Given the description of an element on the screen output the (x, y) to click on. 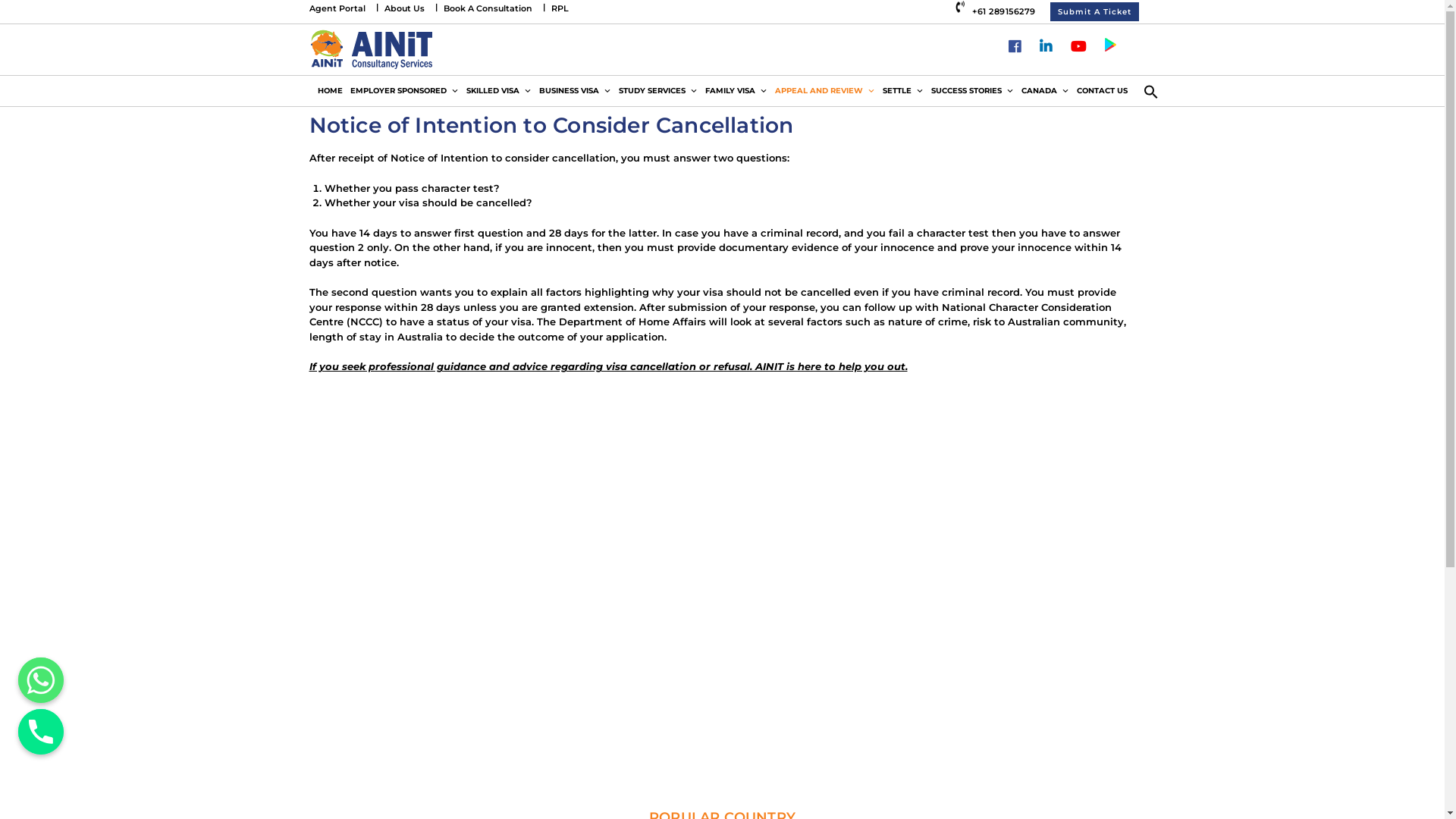
Book A Consultation Element type: text (486, 8)
BUSINESS VISA Element type: text (575, 90)
APPEAL AND REVIEW Element type: text (824, 90)
+61 289156279 Element type: text (996, 10)
STUDY SERVICES Element type: text (657, 90)
Agent Portal Element type: text (337, 8)
RPL Element type: text (558, 8)
Get Appointment Element type: text (788, 720)
HOME Element type: text (329, 90)
Linkedin-in Element type: hover (1045, 47)
Submit A Ticket Element type: text (1094, 11)
CANADA Element type: text (1045, 90)
About Us Element type: text (403, 8)
AInit Consultancy Services Element type: hover (371, 48)
SKILLED VISA Element type: text (498, 90)
EMPLOYER SPONSORED Element type: text (403, 90)
SUCCESS STORIES Element type: text (971, 90)
CONTACT US Element type: text (1101, 90)
FAMILY VISA Element type: text (735, 90)
SETTLE Element type: text (902, 90)
Youtube Element type: hover (1077, 47)
Facebook-f Element type: hover (1014, 47)
